Given the description of an element on the screen output the (x, y) to click on. 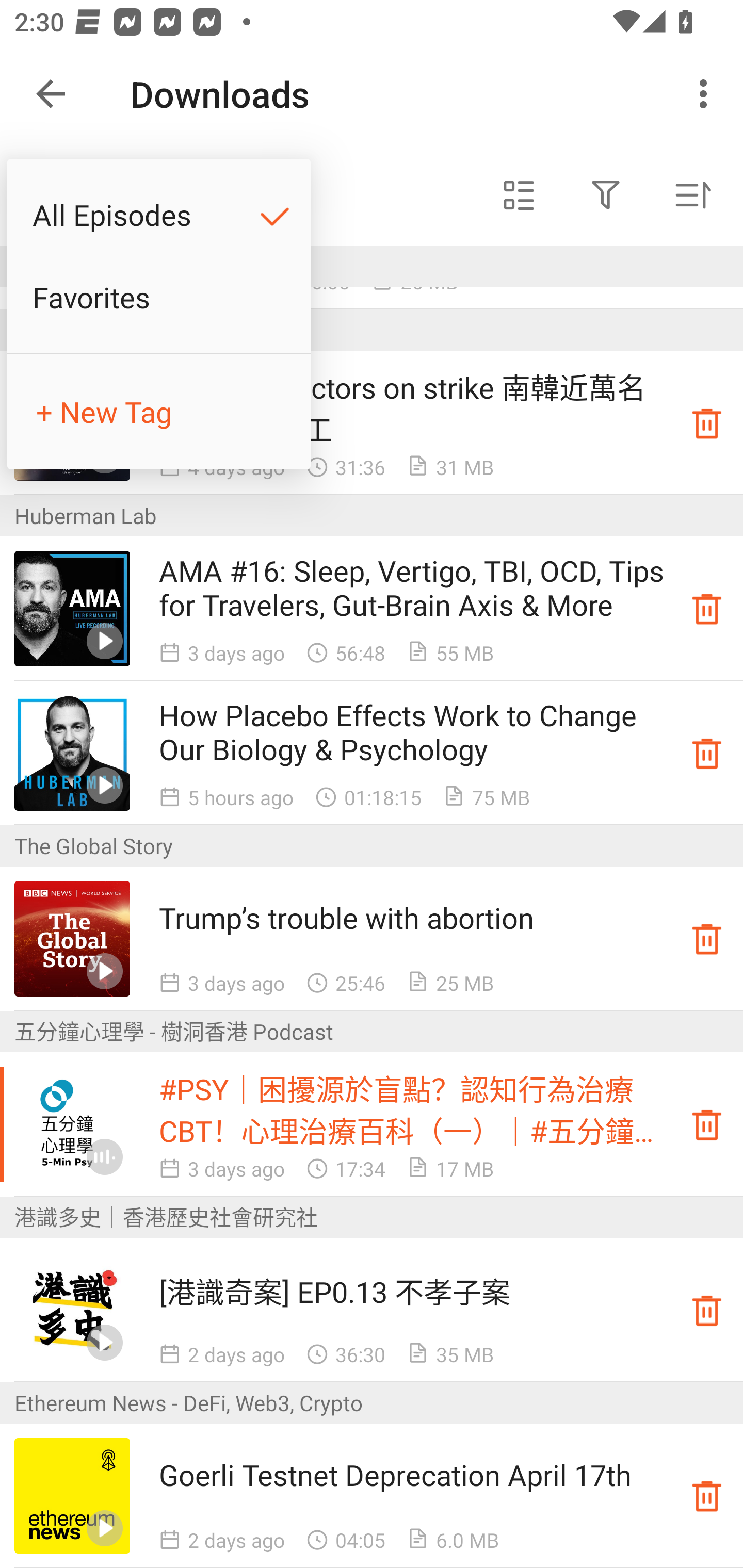
All Episodes (158, 214)
Favorites (158, 296)
+ New Tag (158, 411)
